Given the description of an element on the screen output the (x, y) to click on. 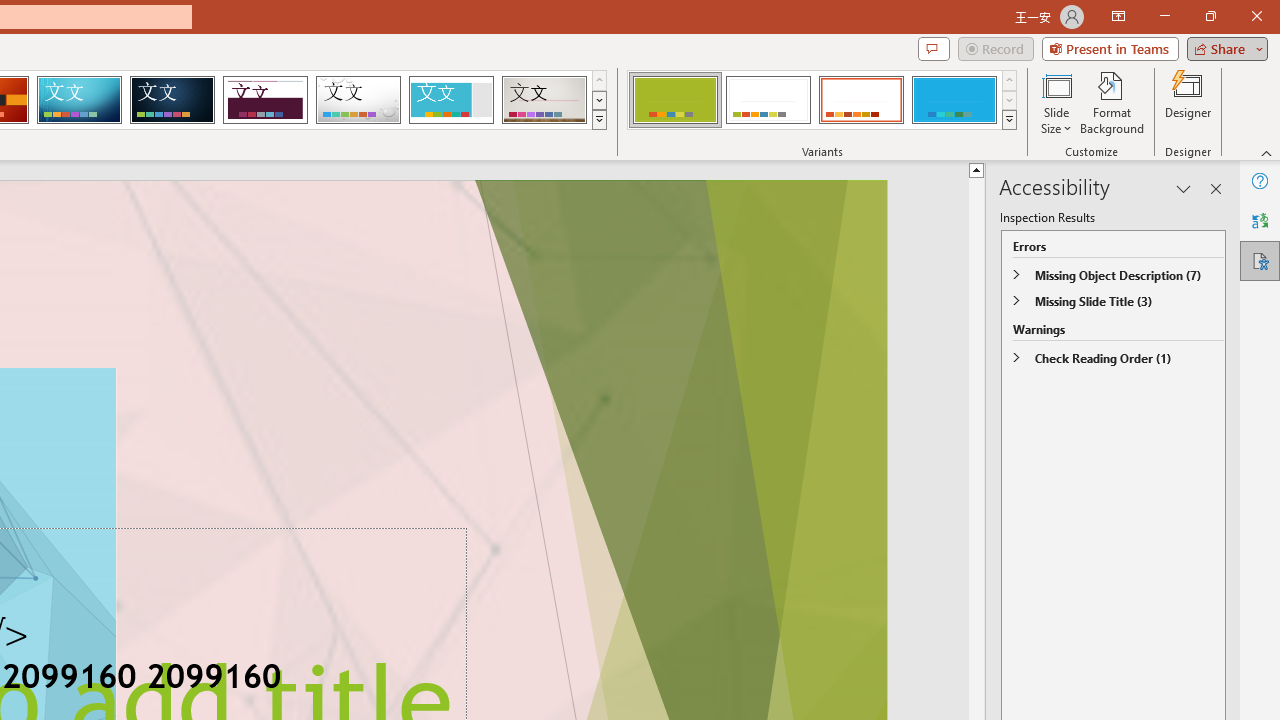
Basis Variant 4 (953, 100)
Basis Variant 2 (768, 100)
Circuit (79, 100)
